Given the description of an element on the screen output the (x, y) to click on. 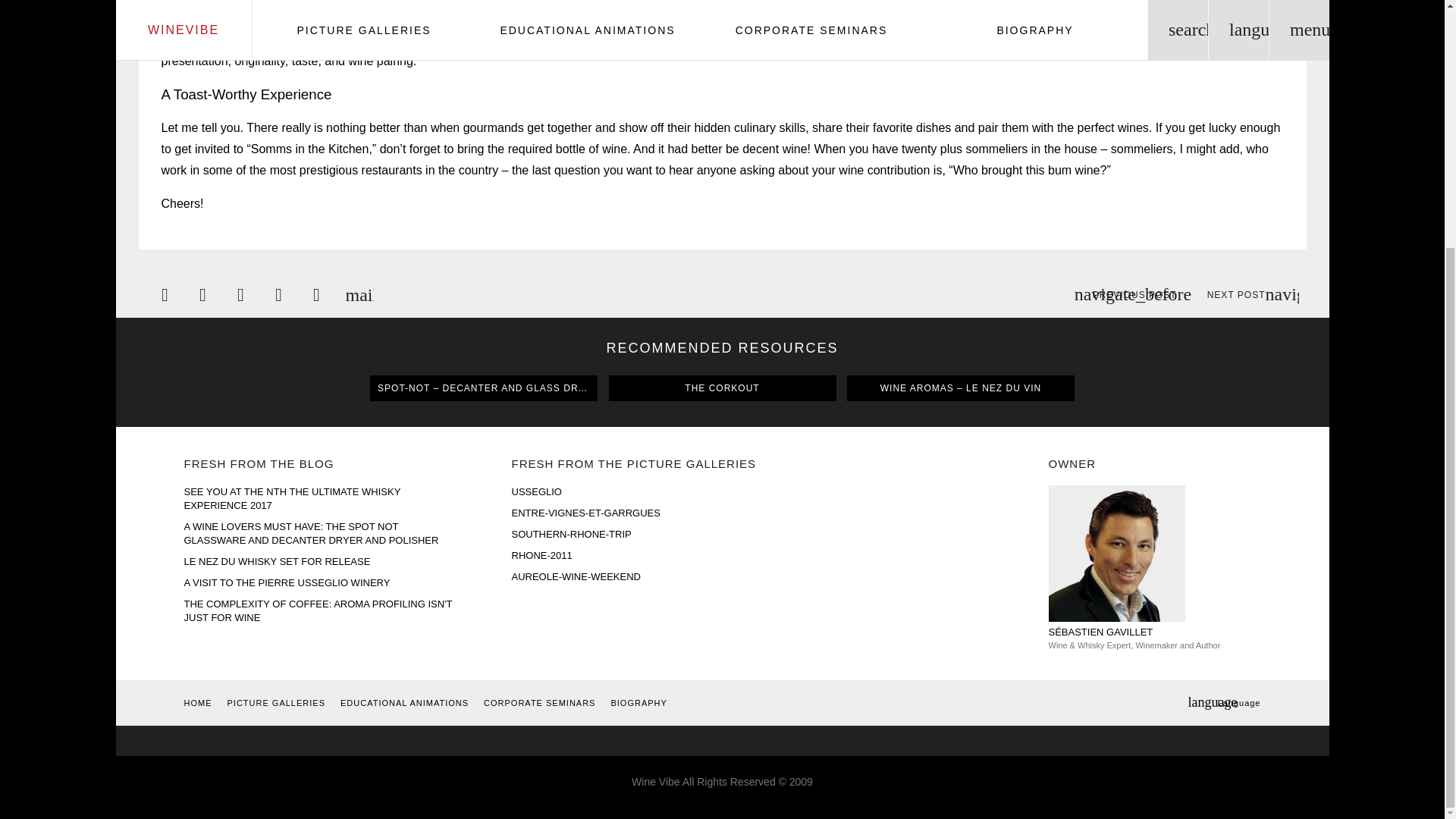
THE CORKOUT (721, 388)
SEE YOU AT THE NTH THE ULTIMATE WHISKY EXPERIENCE 2017 (320, 498)
HOME (197, 702)
ENTRE-VIGNES-ET-GARRGUES (648, 513)
A VISIT TO THE PIERRE USSEGLIO WINERY (320, 582)
SOUTHERN-RHONE-TRIP (648, 534)
RHONE-2011 (648, 555)
USSEGLIO (648, 491)
